Given the description of an element on the screen output the (x, y) to click on. 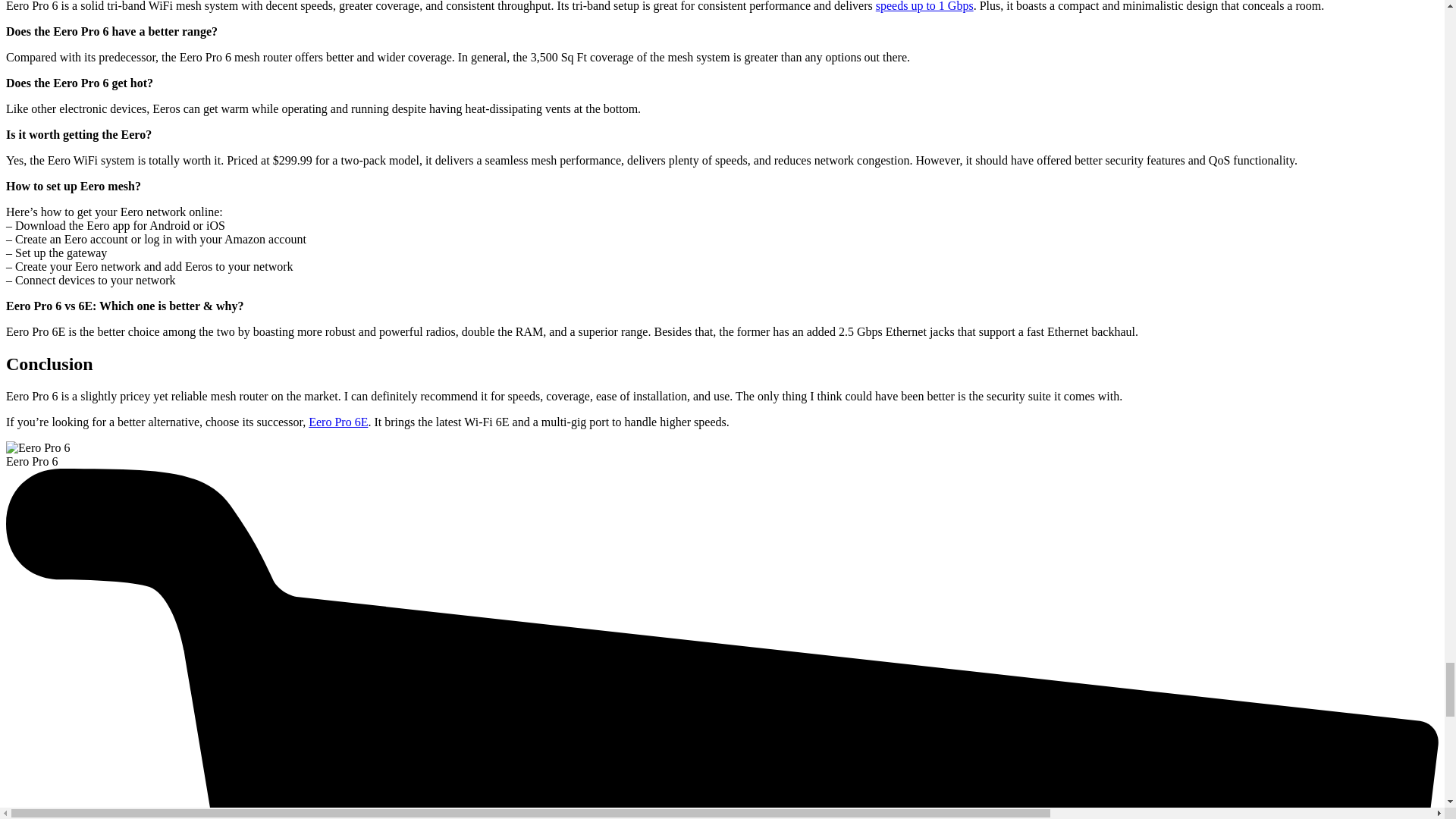
speeds up to 1 Gbps (925, 6)
Eero Pro 6E (338, 421)
